Given the description of an element on the screen output the (x, y) to click on. 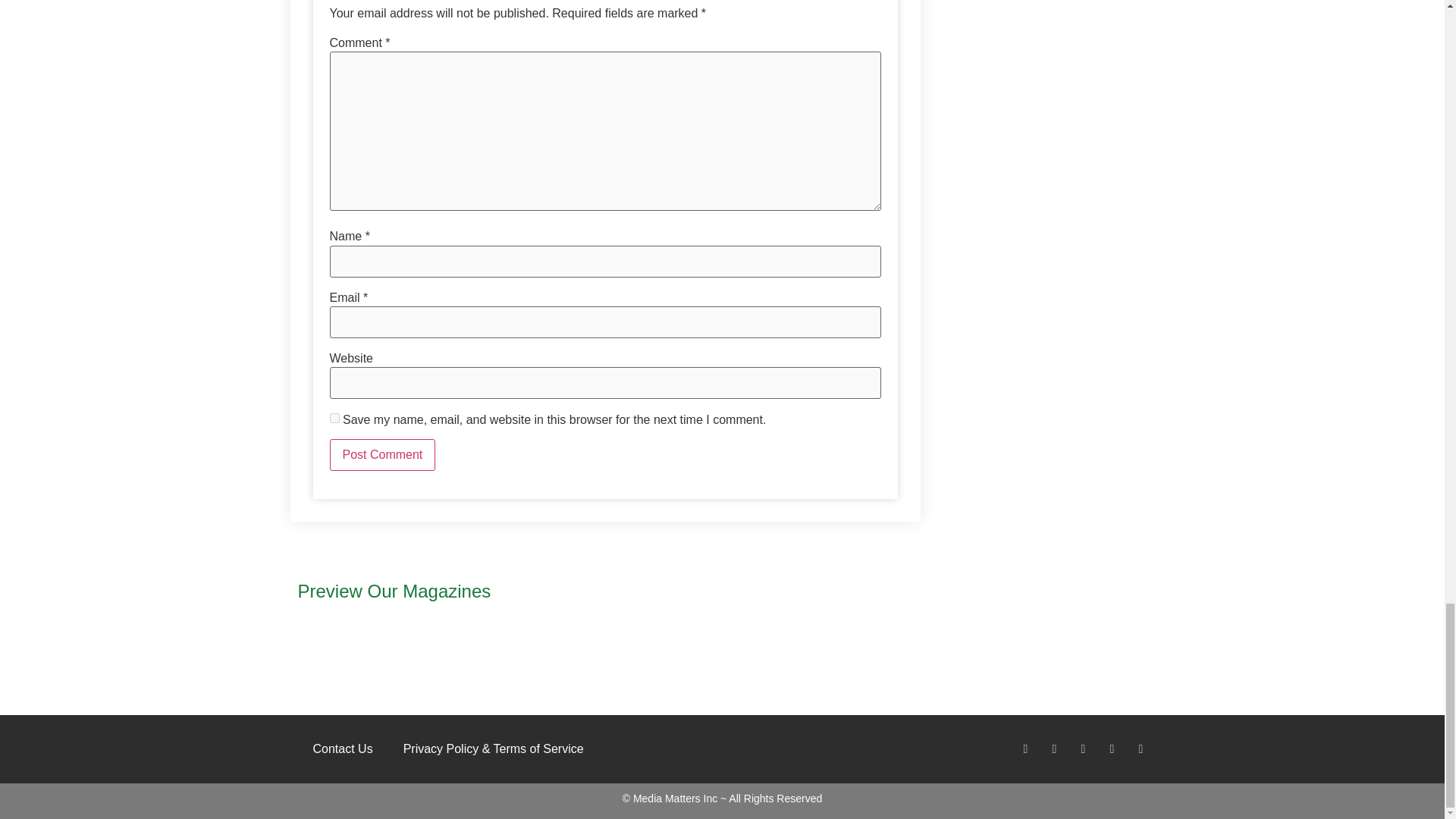
yes (334, 418)
Post Comment (382, 454)
